Given the description of an element on the screen output the (x, y) to click on. 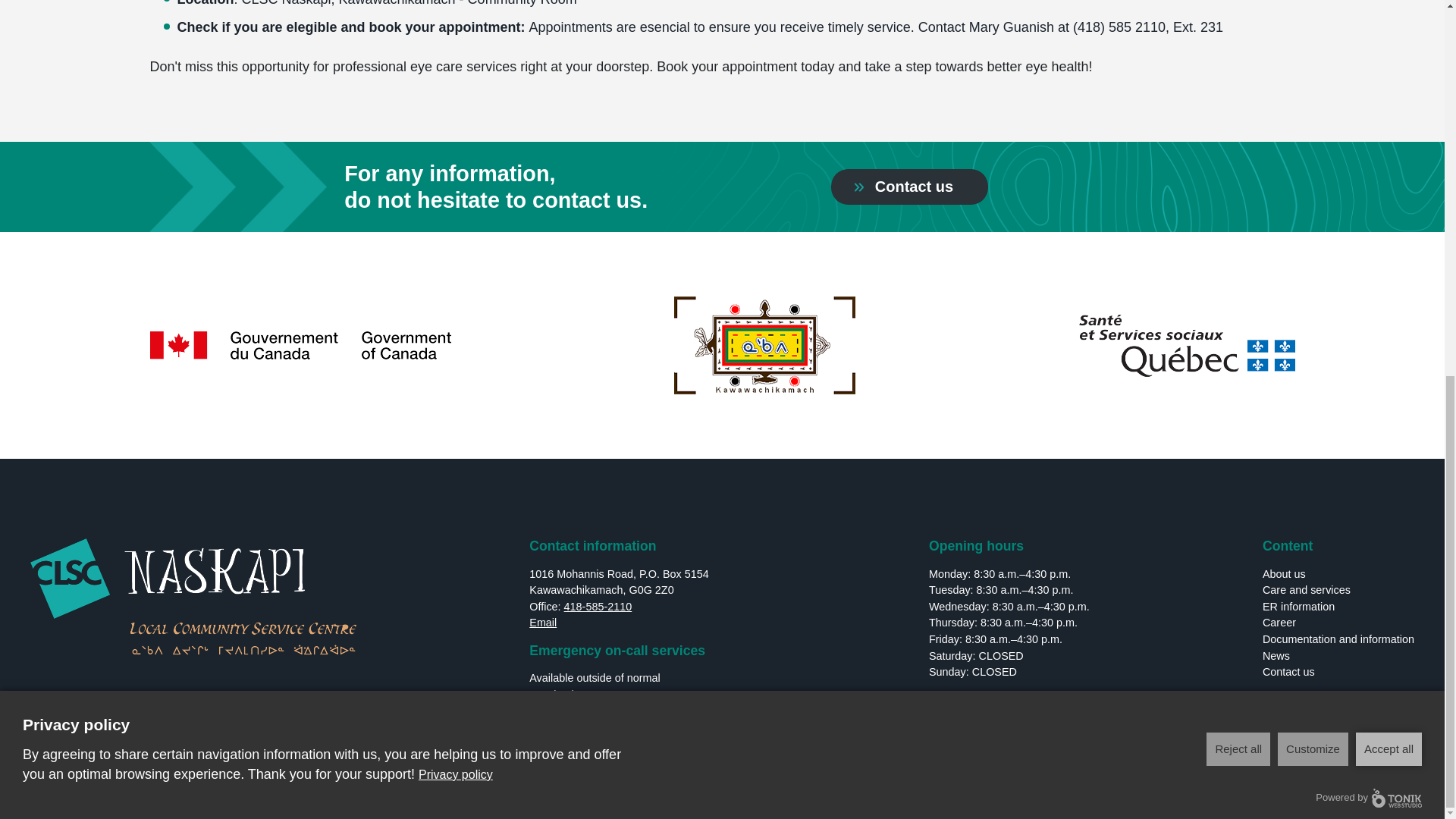
Facebook (705, 798)
Tonik Web Studio (1376, 795)
LinkedIn (738, 798)
